Given the description of an element on the screen output the (x, y) to click on. 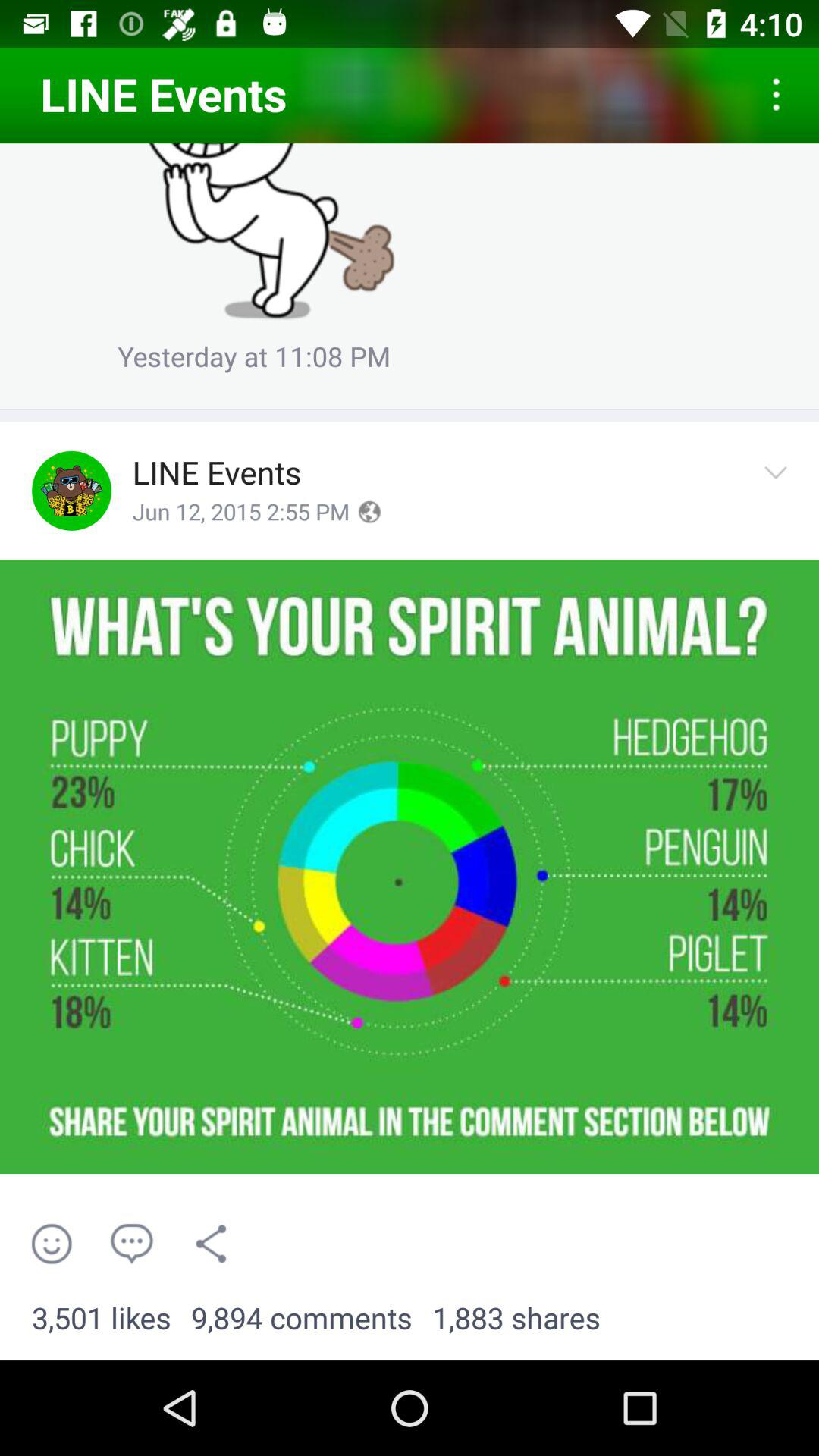
open item next to the 3,501 likes (301, 1318)
